Given the description of an element on the screen output the (x, y) to click on. 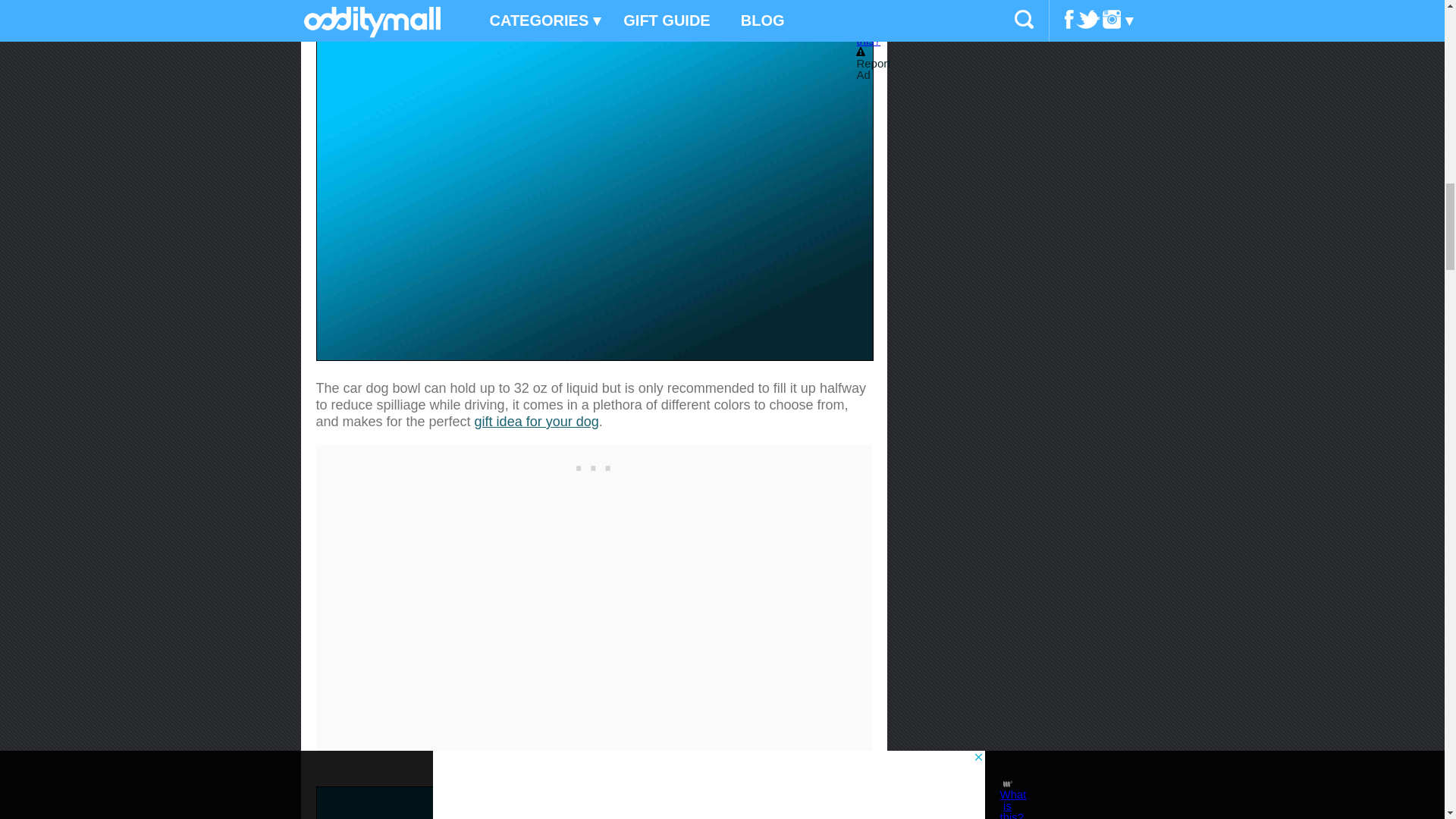
gift idea for your dog (536, 421)
3rd party ad content (592, 464)
